Given the description of an element on the screen output the (x, y) to click on. 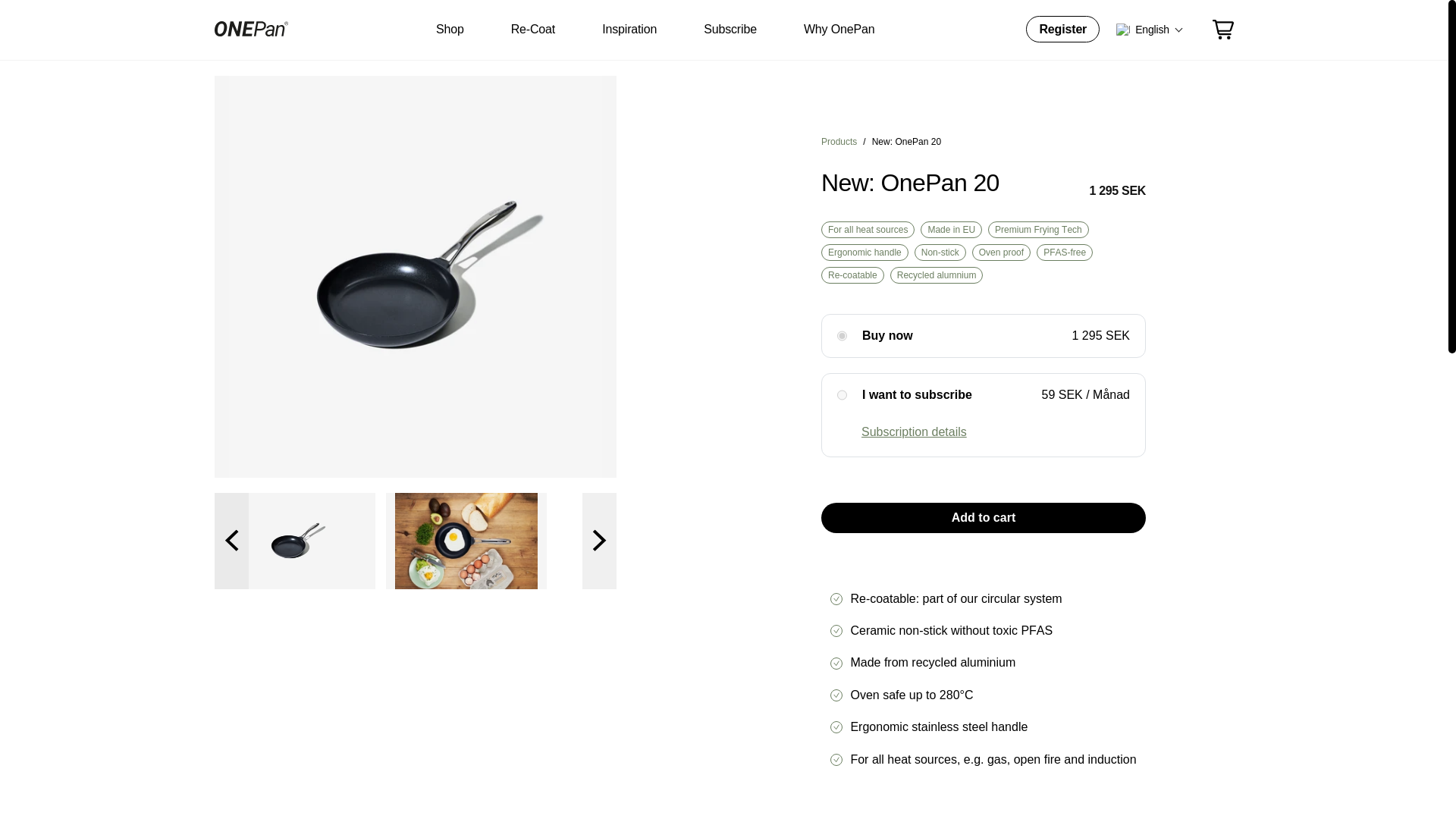
Add to cart (983, 517)
Register (1062, 28)
Products (839, 141)
Inspiration (628, 29)
Subscribe (729, 29)
Skip to content (73, 27)
Subscription details (913, 431)
Why OnePan (838, 29)
Cart (1222, 29)
Re-Coat (532, 29)
Shop (449, 29)
